Given the description of an element on the screen output the (x, y) to click on. 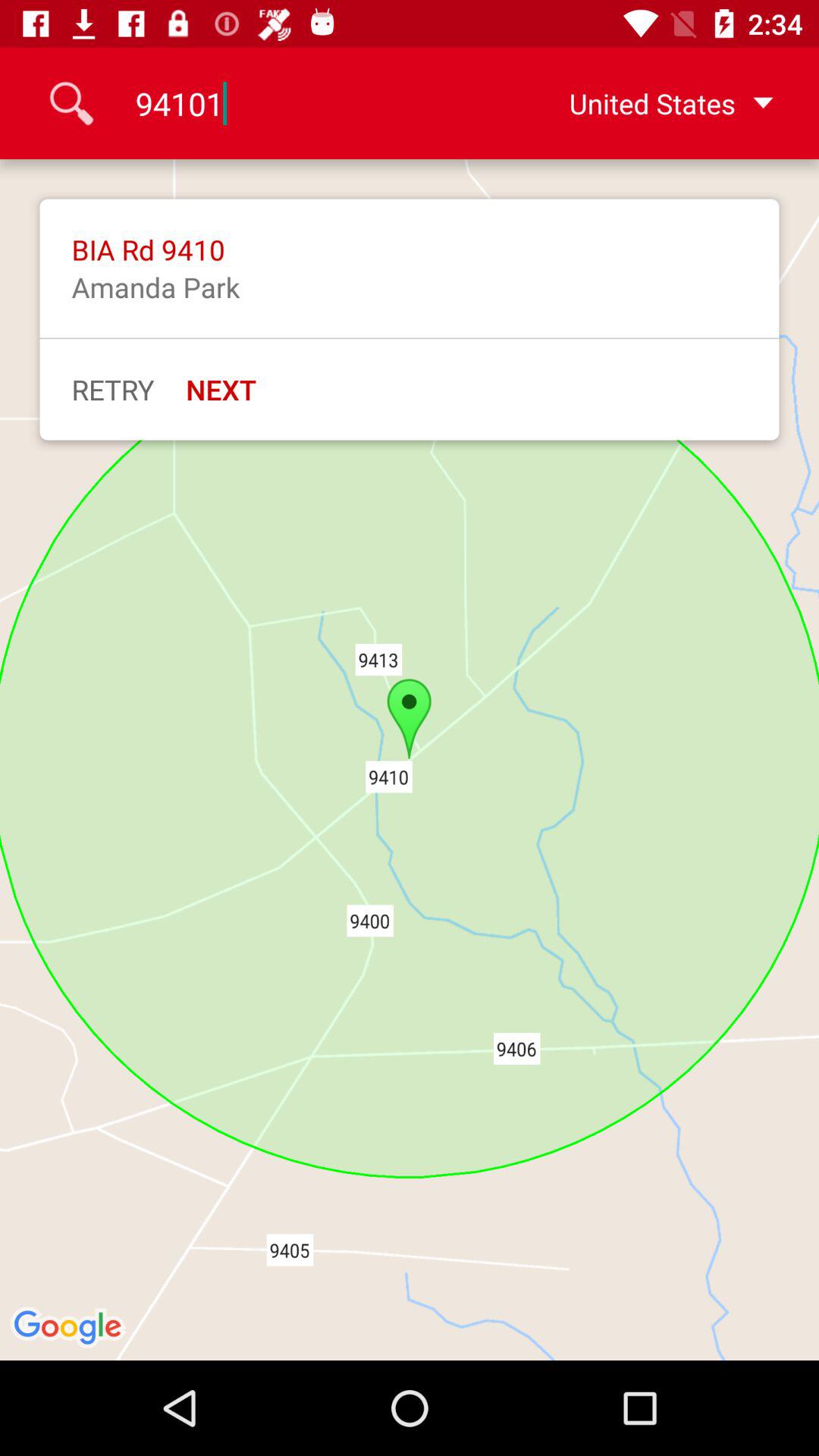
open item next to 94101 item (647, 103)
